Given the description of an element on the screen output the (x, y) to click on. 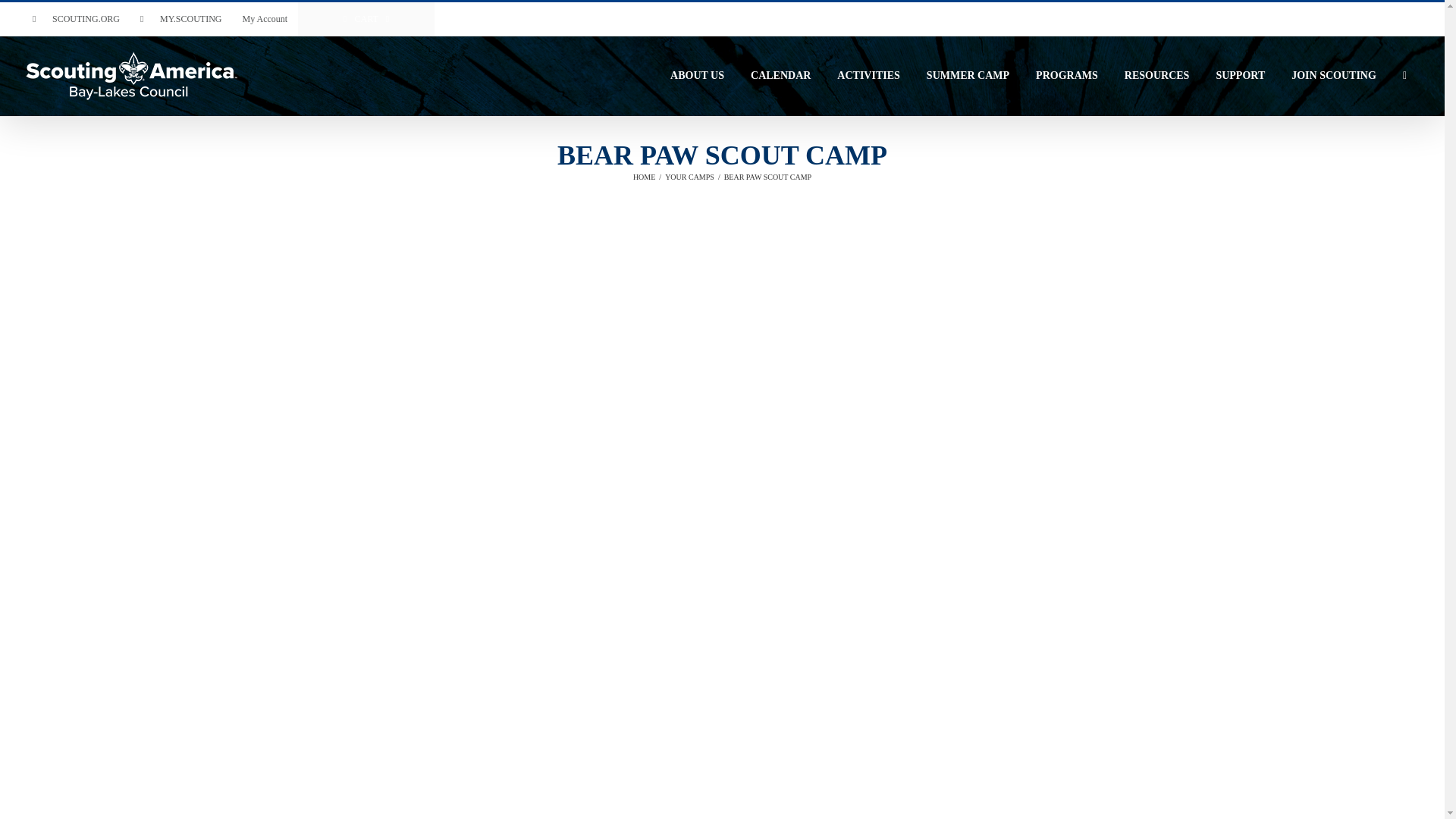
MY.SCOUTING (181, 19)
My Account (264, 19)
CART (365, 19)
SCOUTING.ORG (76, 19)
Log In (320, 146)
